Given the description of an element on the screen output the (x, y) to click on. 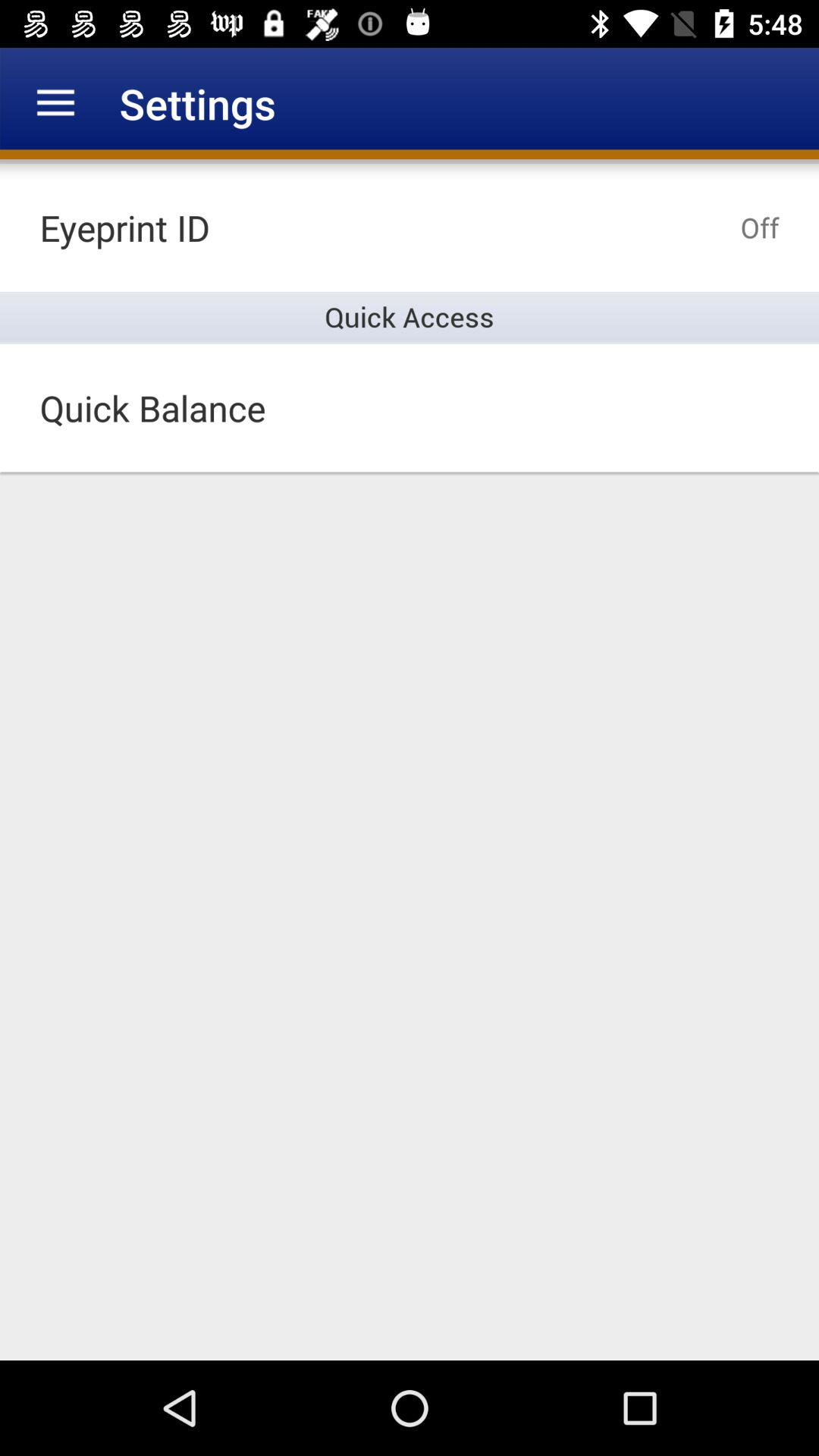
choose the icon next to settings icon (55, 103)
